Given the description of an element on the screen output the (x, y) to click on. 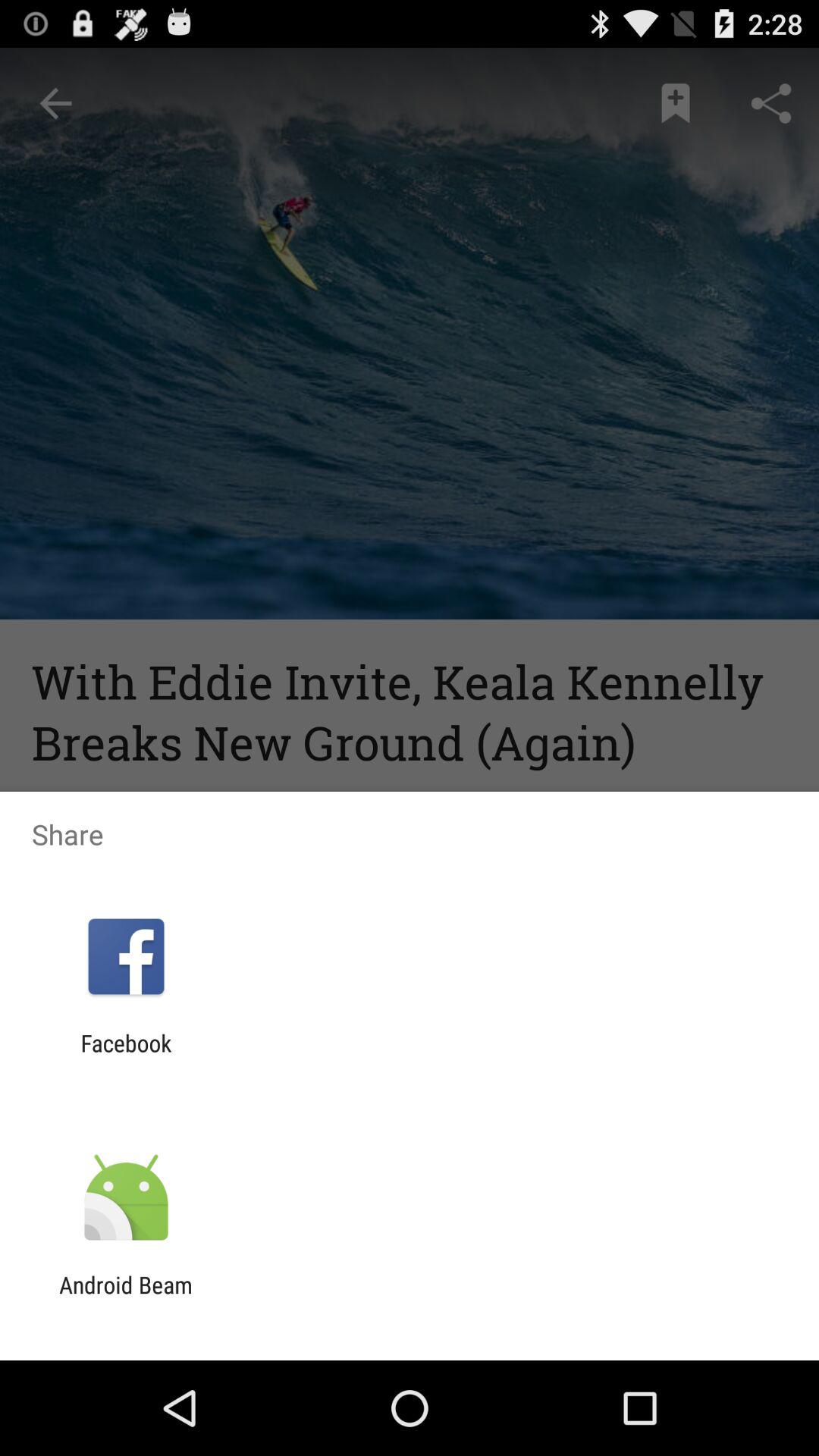
jump until the facebook app (125, 1056)
